Given the description of an element on the screen output the (x, y) to click on. 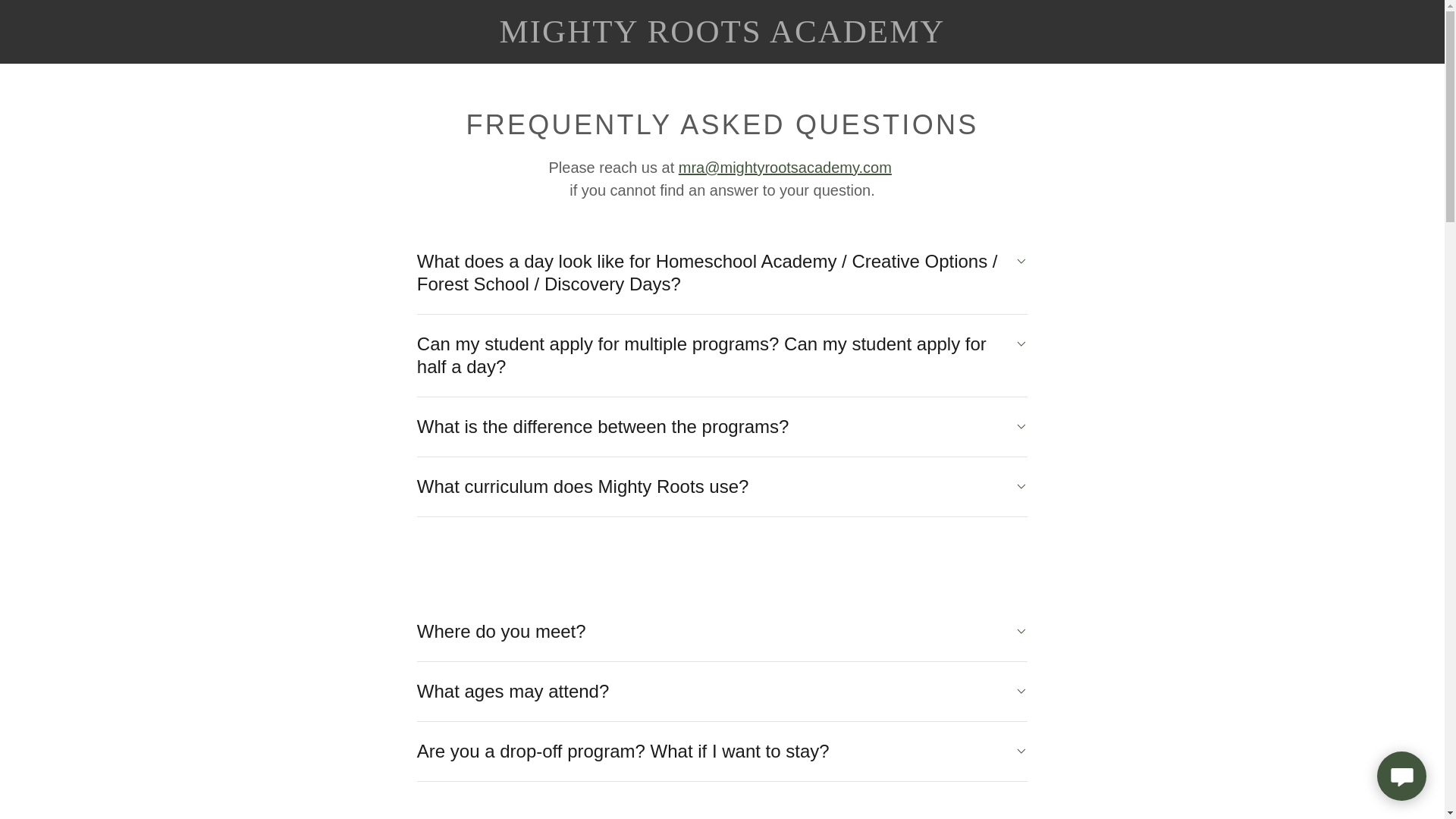
MIGHTY ROOTS ACADEMY (722, 37)
Mighty Roots Academy (722, 37)
